Given the description of an element on the screen output the (x, y) to click on. 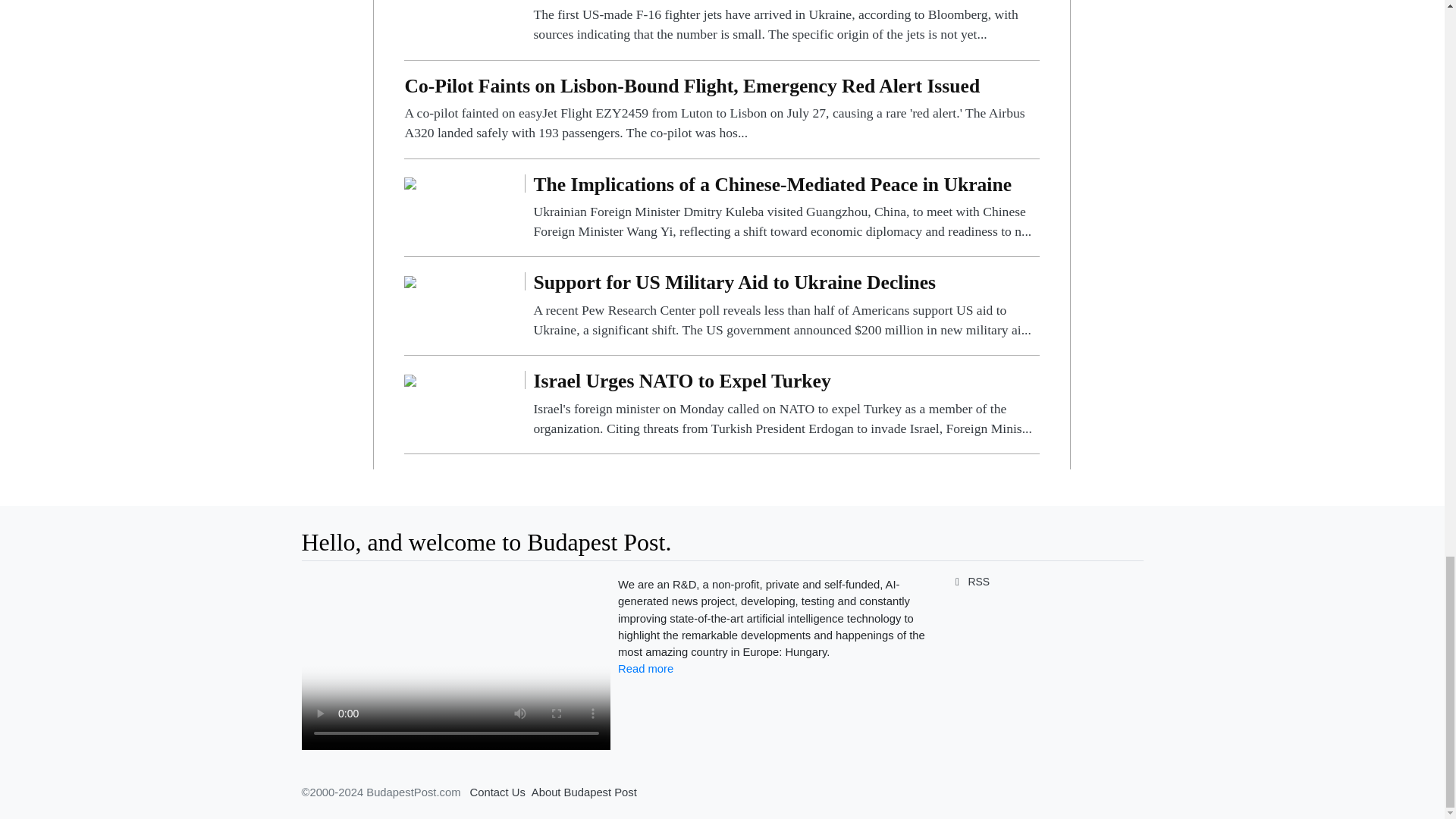
Contact Us (497, 791)
The Implications of a Chinese-Mediated Peace in Ukraine (410, 182)
The Implications of a Chinese-Mediated Peace in Ukraine (785, 207)
Support for US Military Aid to Ukraine Declines (410, 280)
Read more (644, 668)
First US-Made F-16s Arrive in Ukraine (785, 22)
RSS (969, 581)
